Given the description of an element on the screen output the (x, y) to click on. 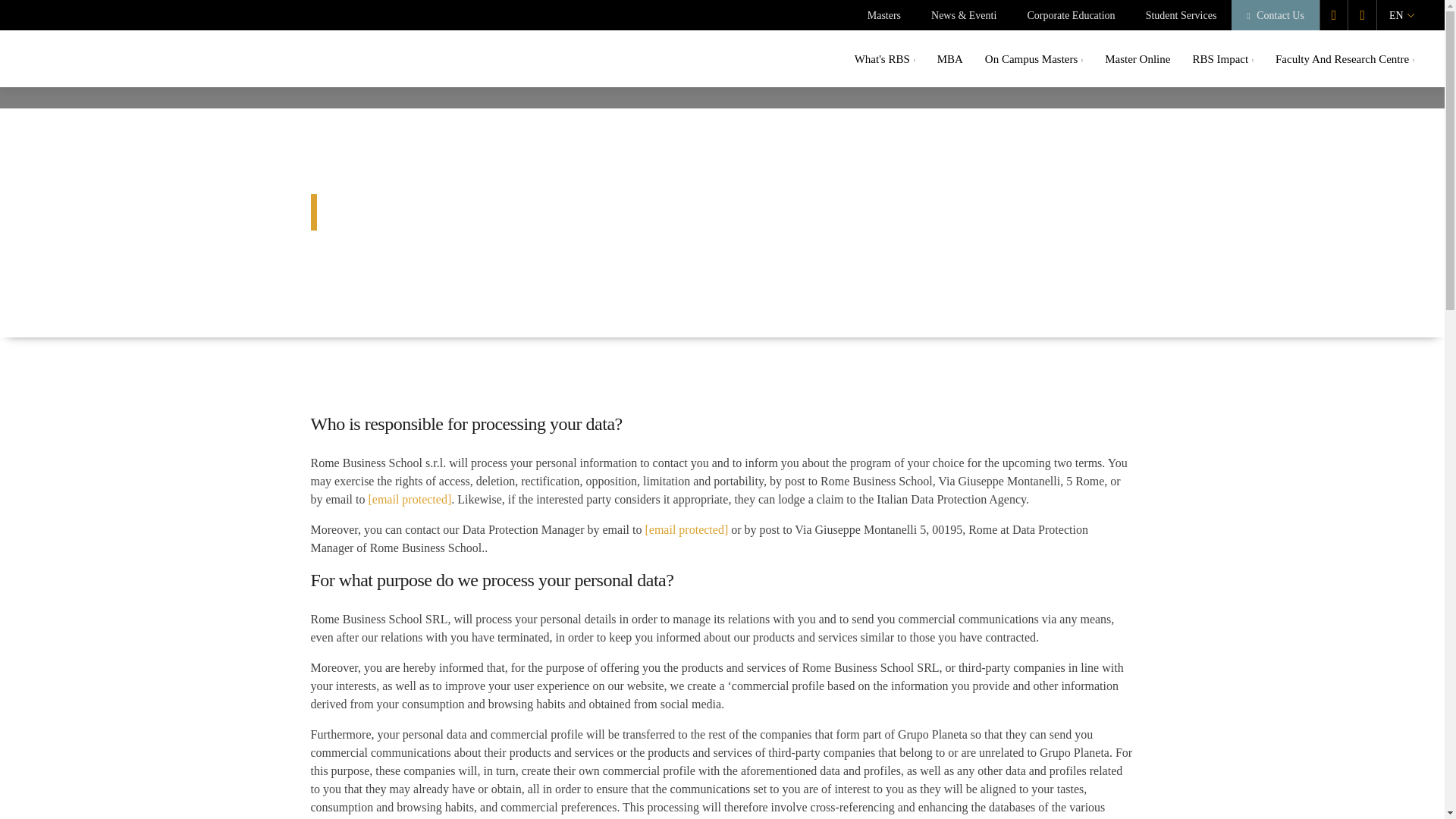
Contact Us (1275, 15)
Masters (884, 15)
Student Services (1181, 15)
MBA (949, 59)
Corporate Education (1070, 15)
On Campus Masters (1034, 59)
What'S RBS (884, 59)
